Given the description of an element on the screen output the (x, y) to click on. 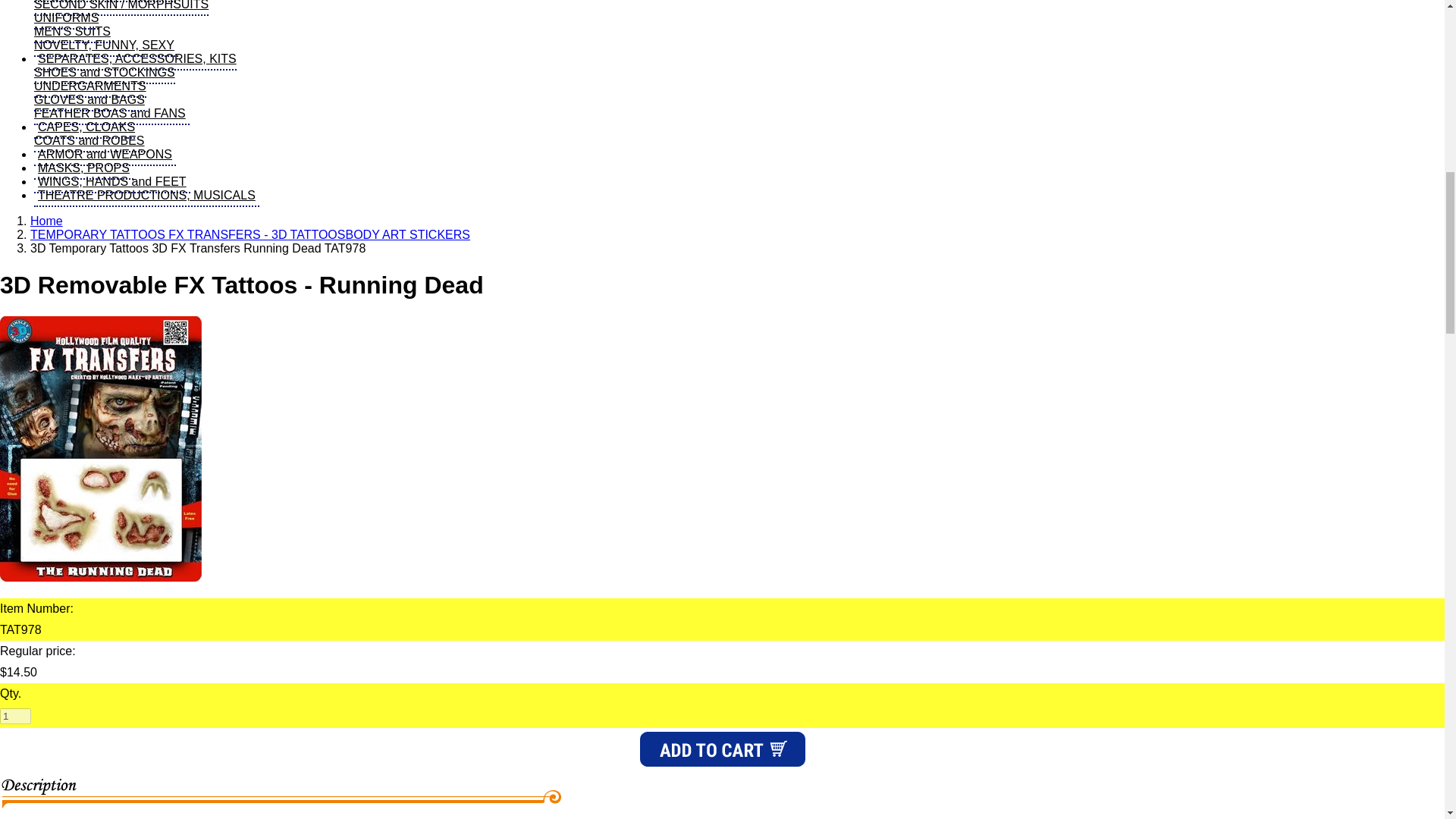
TEMPORARY TATTOOS FX TRANSFERS - 3D TATTOOSBODY ART STICKERS (250, 234)
MASKS, PROPS (83, 168)
WINGS, HANDS and FEET (90, 134)
Home (111, 182)
1 (46, 220)
THEATRE PRODUCTIONS, MUSICALS (15, 715)
ARMOR and WEAPONS (146, 196)
